Given the description of an element on the screen output the (x, y) to click on. 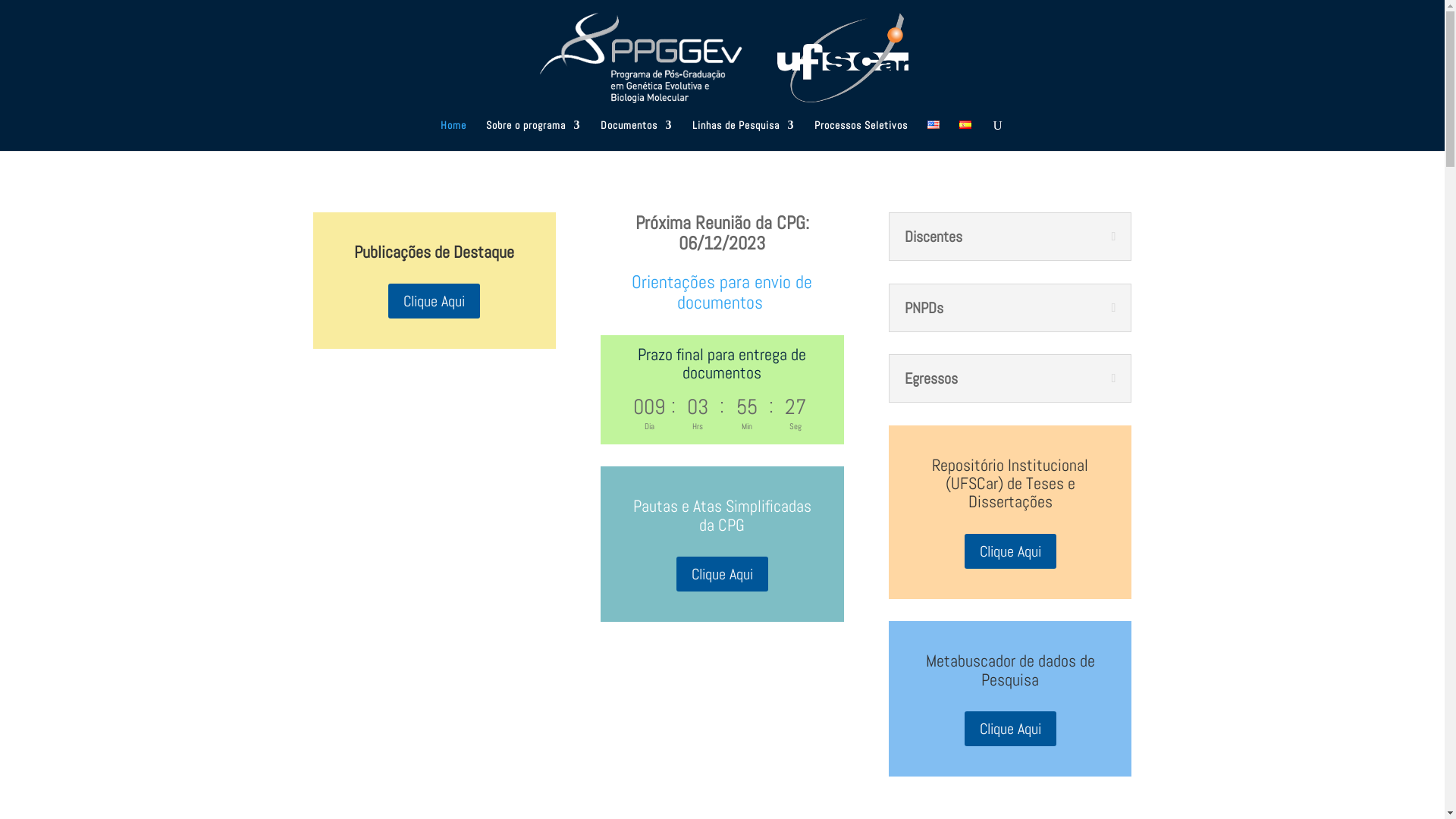
Documentos Element type: text (636, 134)
Processos Seletivos Element type: text (860, 134)
Home Element type: text (452, 134)
Sobre o programa Element type: text (532, 134)
Clique Aqui Element type: text (434, 300)
English Element type: hover (932, 124)
Clique Aqui Element type: text (1010, 728)
Clique Aqui Element type: text (1010, 550)
Clique Aqui Element type: text (722, 573)
UFSCar Element type: hover (842, 57)
Linhas de Pesquisa Element type: text (742, 134)
